Given the description of an element on the screen output the (x, y) to click on. 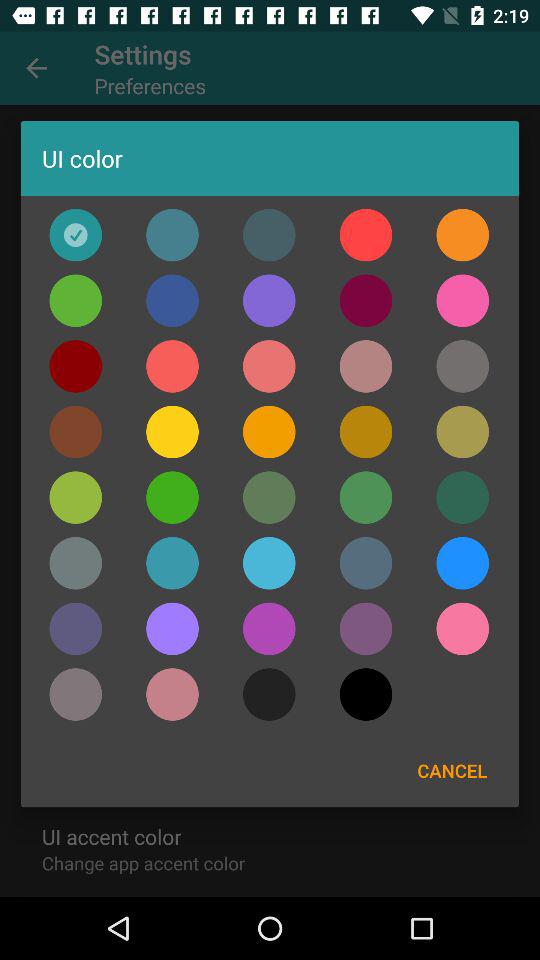
choose color pink (462, 628)
